Given the description of an element on the screen output the (x, y) to click on. 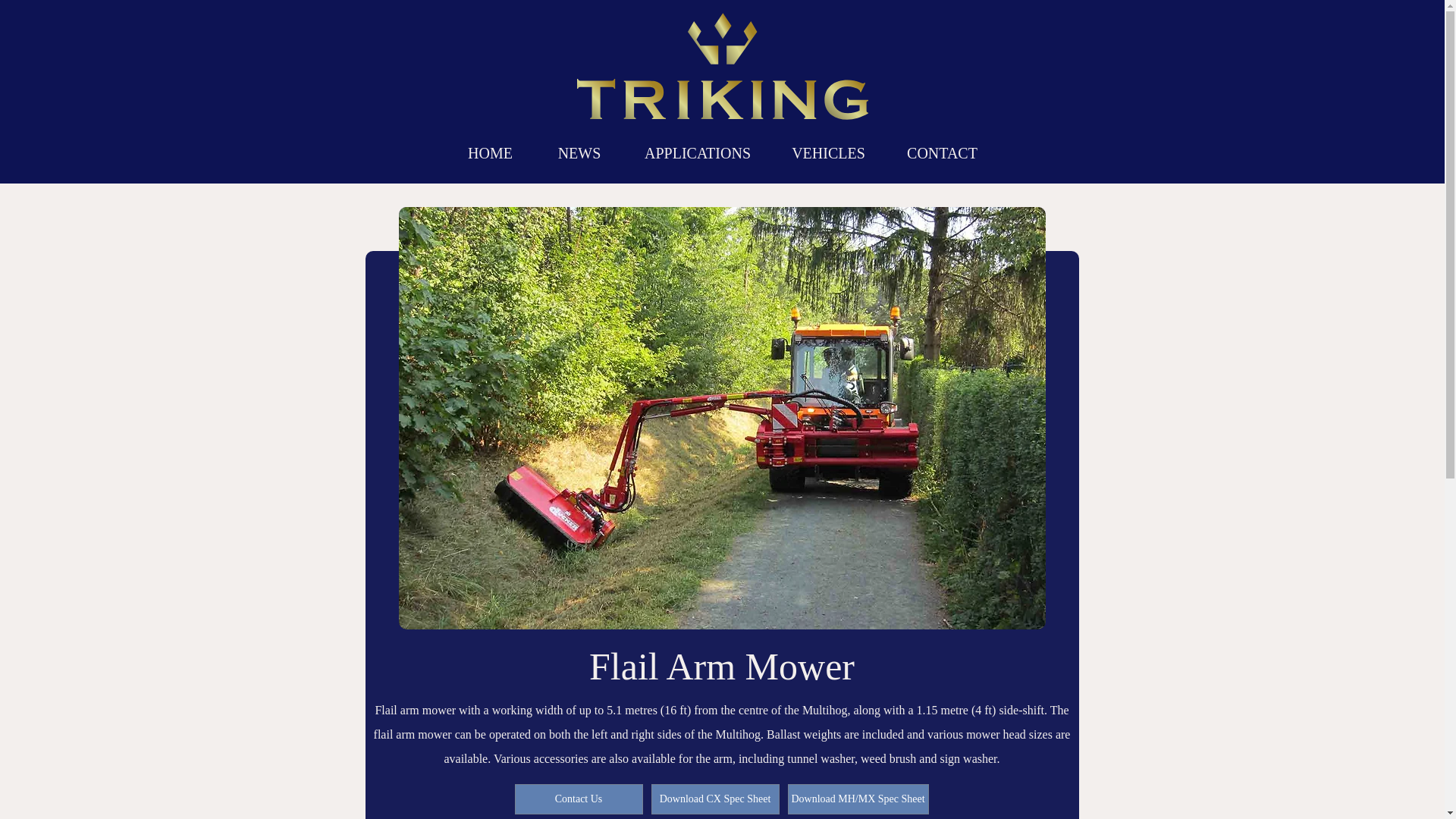
VEHICLES (828, 151)
CONTACT (941, 151)
HOME (490, 151)
Download CX Spec Sheet (714, 798)
NEWS (579, 151)
APPLICATIONS (697, 151)
Contact Us (577, 798)
